Given the description of an element on the screen output the (x, y) to click on. 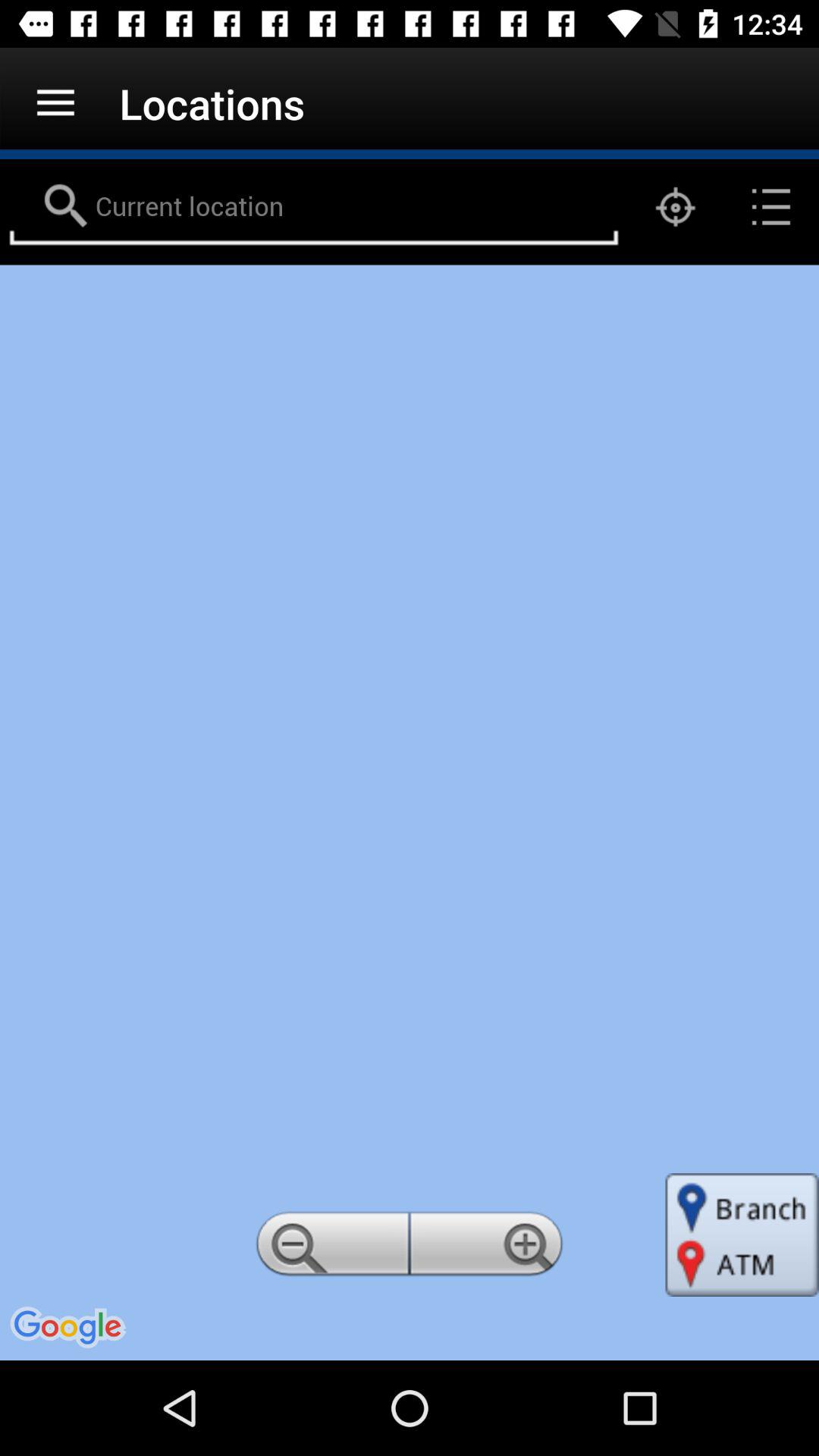
zoom out (329, 1248)
